Given the description of an element on the screen output the (x, y) to click on. 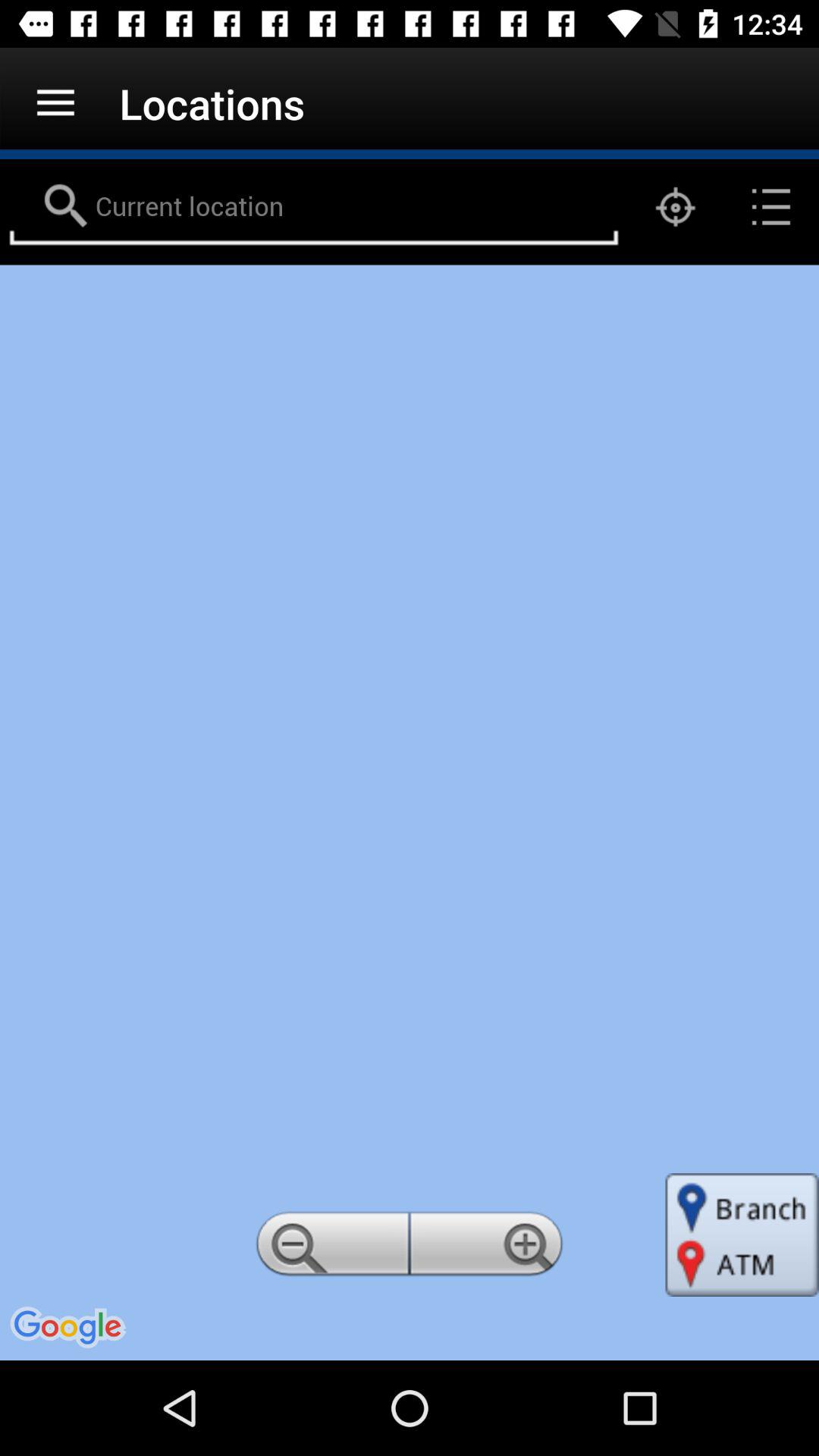
zoom out (329, 1248)
